Given the description of an element on the screen output the (x, y) to click on. 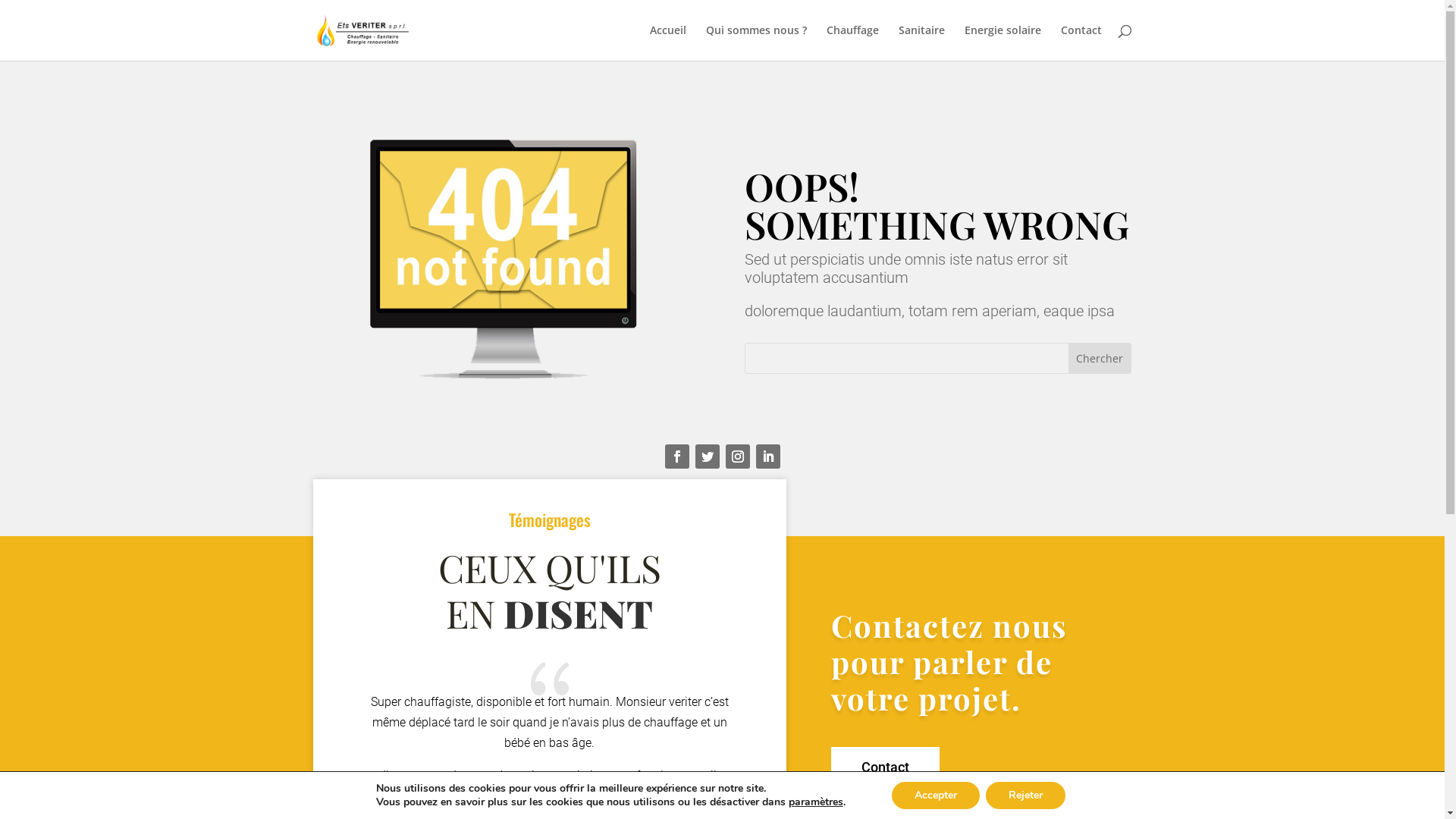
Accueil Element type: text (667, 42)
Suivez sur Twitter Element type: hover (706, 456)
Energie solaire Element type: text (1002, 42)
Suivez sur LinkedIn Element type: hover (767, 456)
Qui sommes nous ? Element type: text (755, 42)
Suivez sur Instagram Element type: hover (736, 456)
Chauffage Element type: text (852, 42)
Contact Element type: text (885, 766)
Contact Element type: text (1080, 42)
Rejeter Element type: text (1025, 795)
Chercher Element type: text (1099, 358)
Accepter Element type: text (935, 795)
Suivez sur Facebook Element type: hover (676, 456)
Sanitaire Element type: text (920, 42)
